Given the description of an element on the screen output the (x, y) to click on. 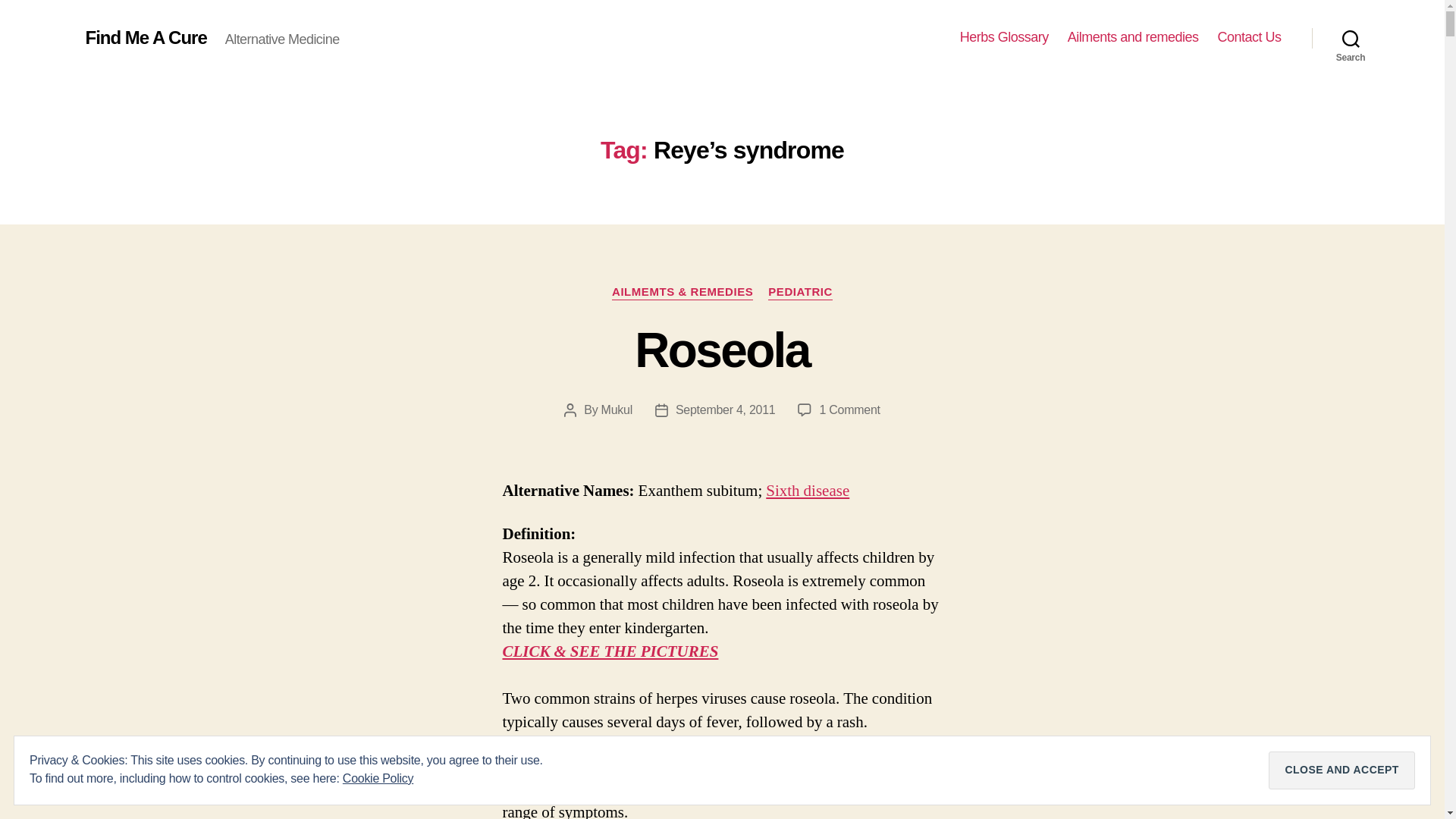
Exanthema subitum (806, 490)
Mukul (616, 409)
Sixth disease (806, 490)
Find Me A Cure (145, 37)
Herbs Glossary (1003, 37)
Close and accept (1341, 770)
Roseola (721, 349)
Search (1350, 37)
Ailments and remedies (1132, 37)
